Given the description of an element on the screen output the (x, y) to click on. 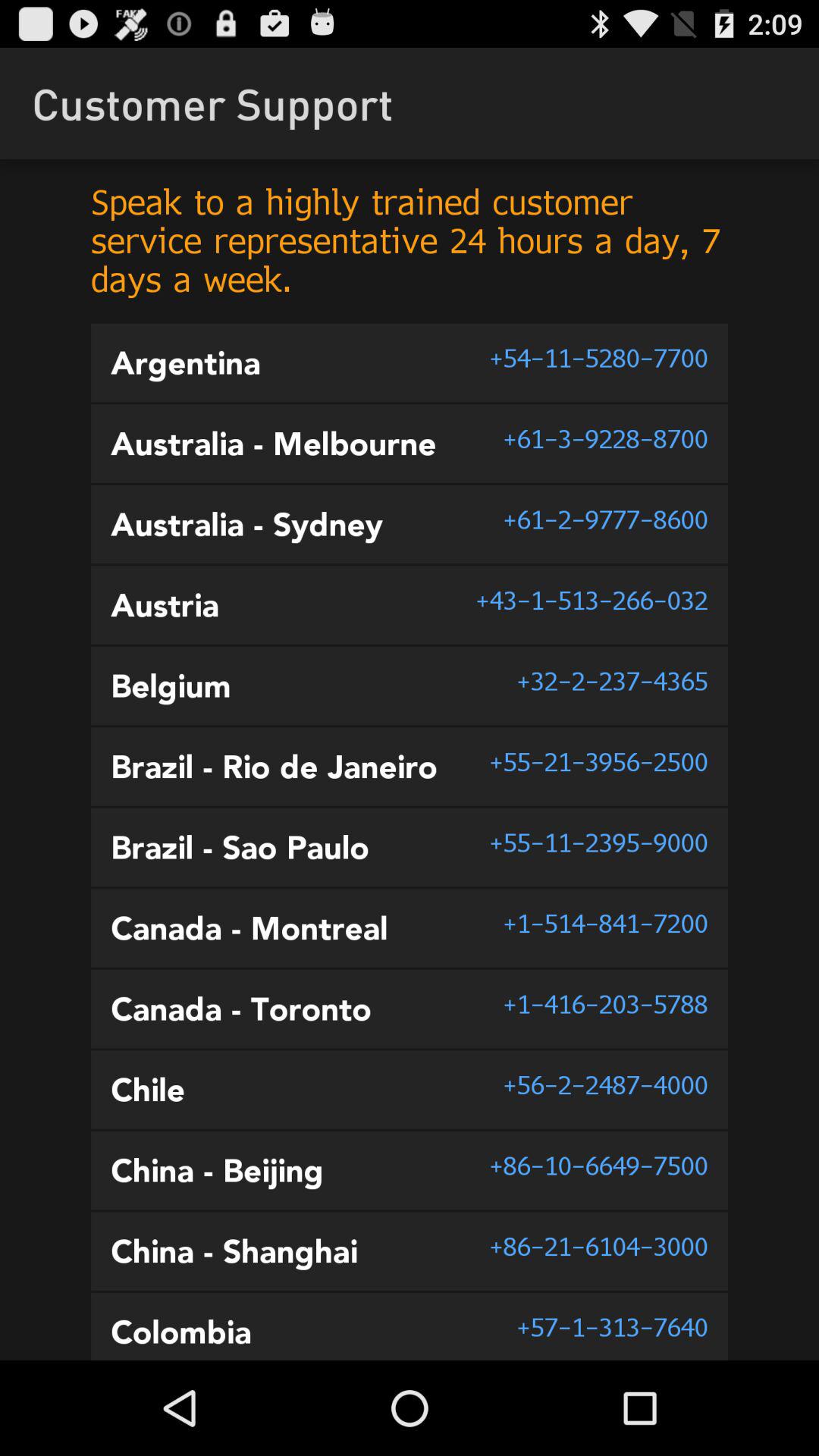
flip until 61 3 9228 icon (605, 438)
